Given the description of an element on the screen output the (x, y) to click on. 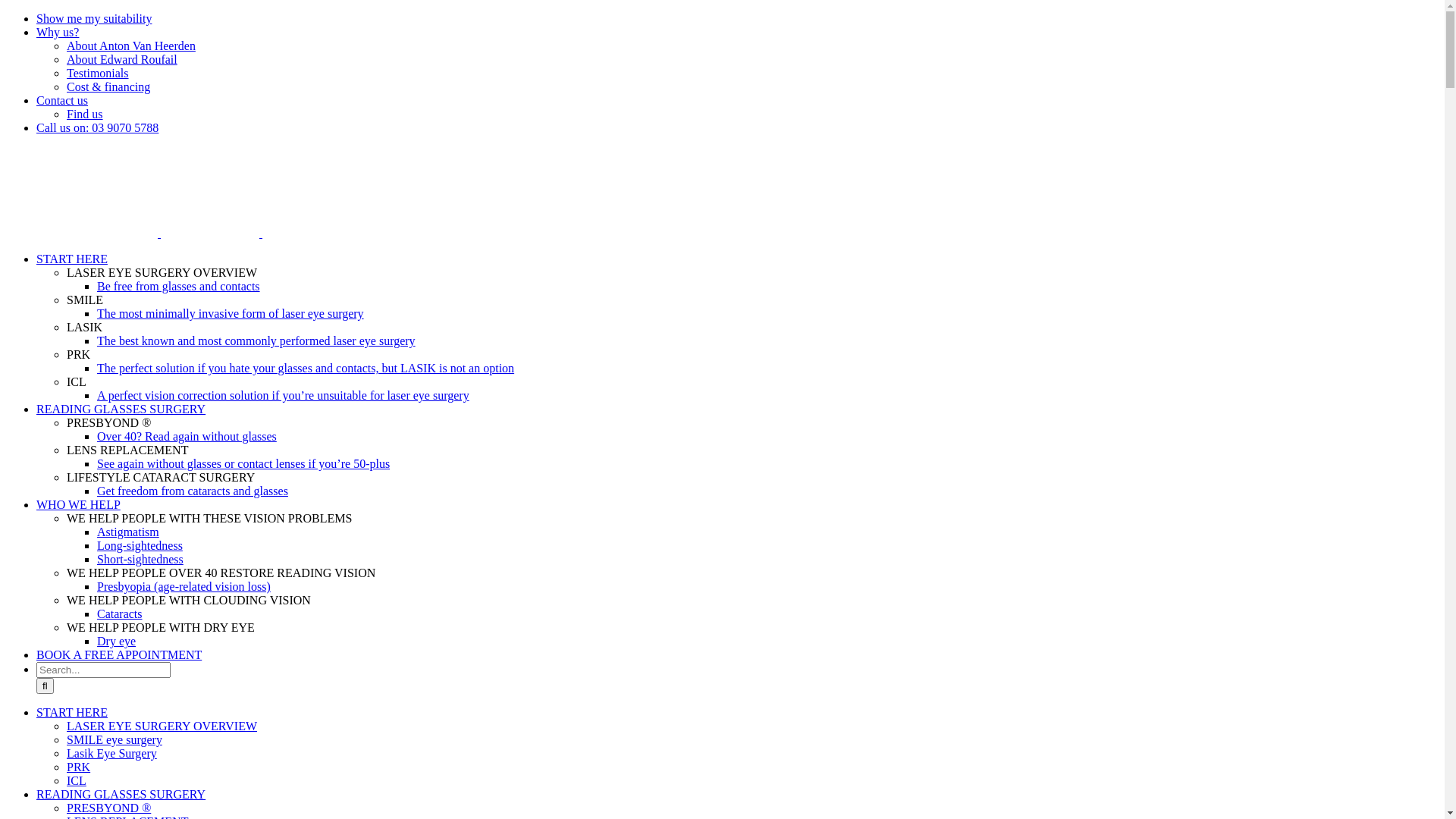
Skip to content Element type: text (5, 11)
SMILE eye surgery Element type: text (114, 739)
ICL Element type: text (76, 780)
PRK Element type: text (78, 766)
Dry eye Element type: text (116, 640)
Presbyopia (age-related vision loss) Element type: text (183, 586)
WHO WE HELP Element type: text (78, 504)
BOOK A FREE APPOINTMENT Element type: text (118, 654)
The best known and most commonly performed laser eye surgery Element type: text (256, 340)
START HERE Element type: text (71, 712)
Astigmatism Element type: text (128, 531)
Be free from glasses and contacts Element type: text (178, 285)
LASER EYE SURGERY OVERVIEW Element type: text (161, 725)
The most minimally invasive form of laser eye surgery Element type: text (230, 313)
Get freedom from cataracts and glasses Element type: text (192, 490)
Find us Element type: text (84, 113)
Why us? Element type: text (57, 31)
Cost & financing Element type: text (108, 86)
Call us on: 03 9070 5788 Element type: text (97, 127)
Long-sightedness Element type: text (139, 545)
START HERE Element type: text (71, 258)
Testimonials Element type: text (97, 72)
READING GLASSES SURGERY Element type: text (120, 793)
Contact us Element type: text (61, 100)
Show me my suitability Element type: text (93, 18)
Short-sightedness Element type: text (140, 558)
READING GLASSES SURGERY Element type: text (120, 408)
Cataracts Element type: text (119, 613)
About Edward Roufail Element type: text (121, 59)
Lasik Eye Surgery Element type: text (111, 752)
Over 40? Read again without glasses Element type: text (186, 435)
About Anton Van Heerden Element type: text (130, 45)
